Given the description of an element on the screen output the (x, y) to click on. 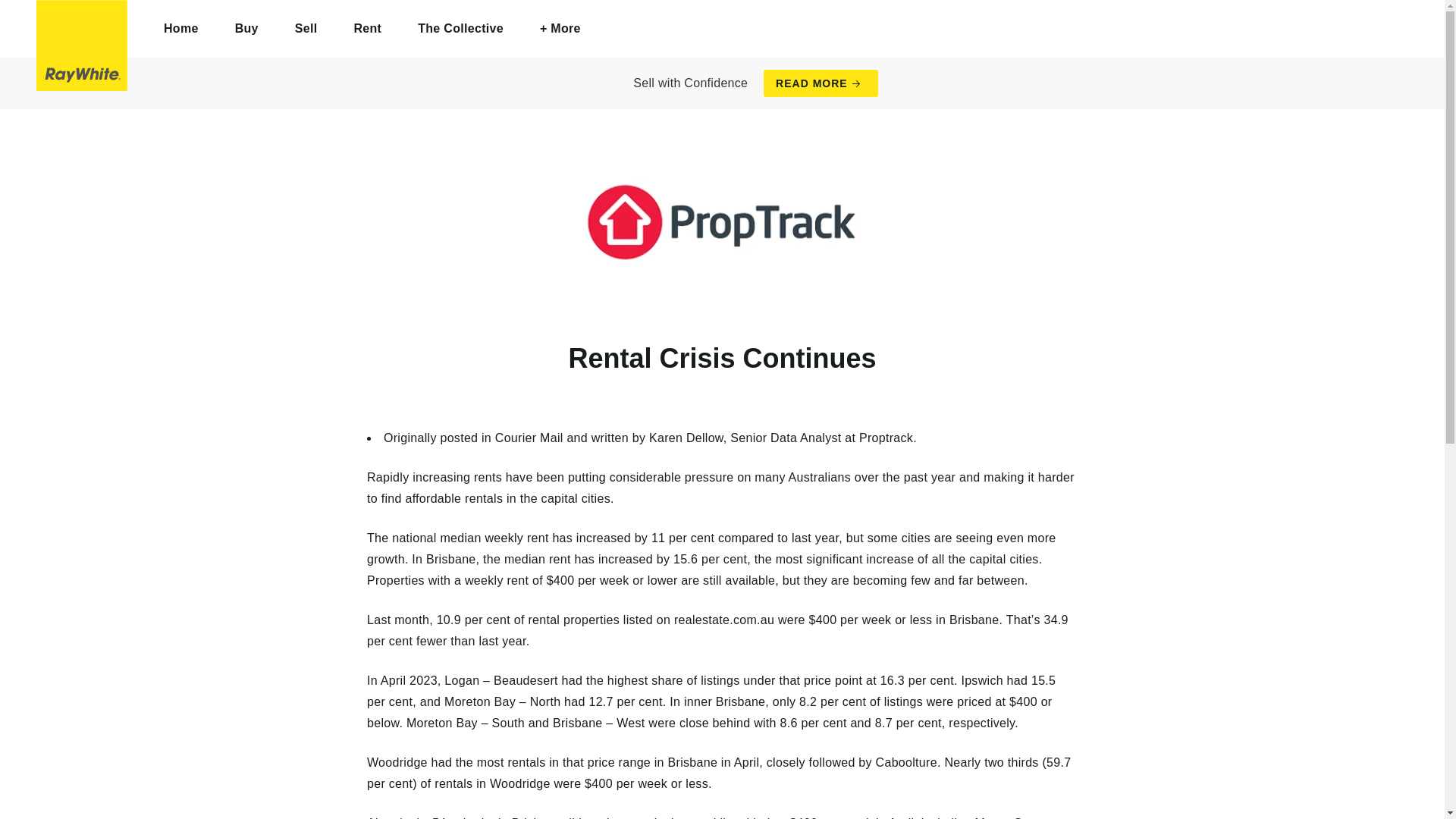
Home (180, 28)
READ MORE (819, 83)
Rent (366, 28)
The Collective (459, 28)
Ray White New Farm (82, 45)
